Given the description of an element on the screen output the (x, y) to click on. 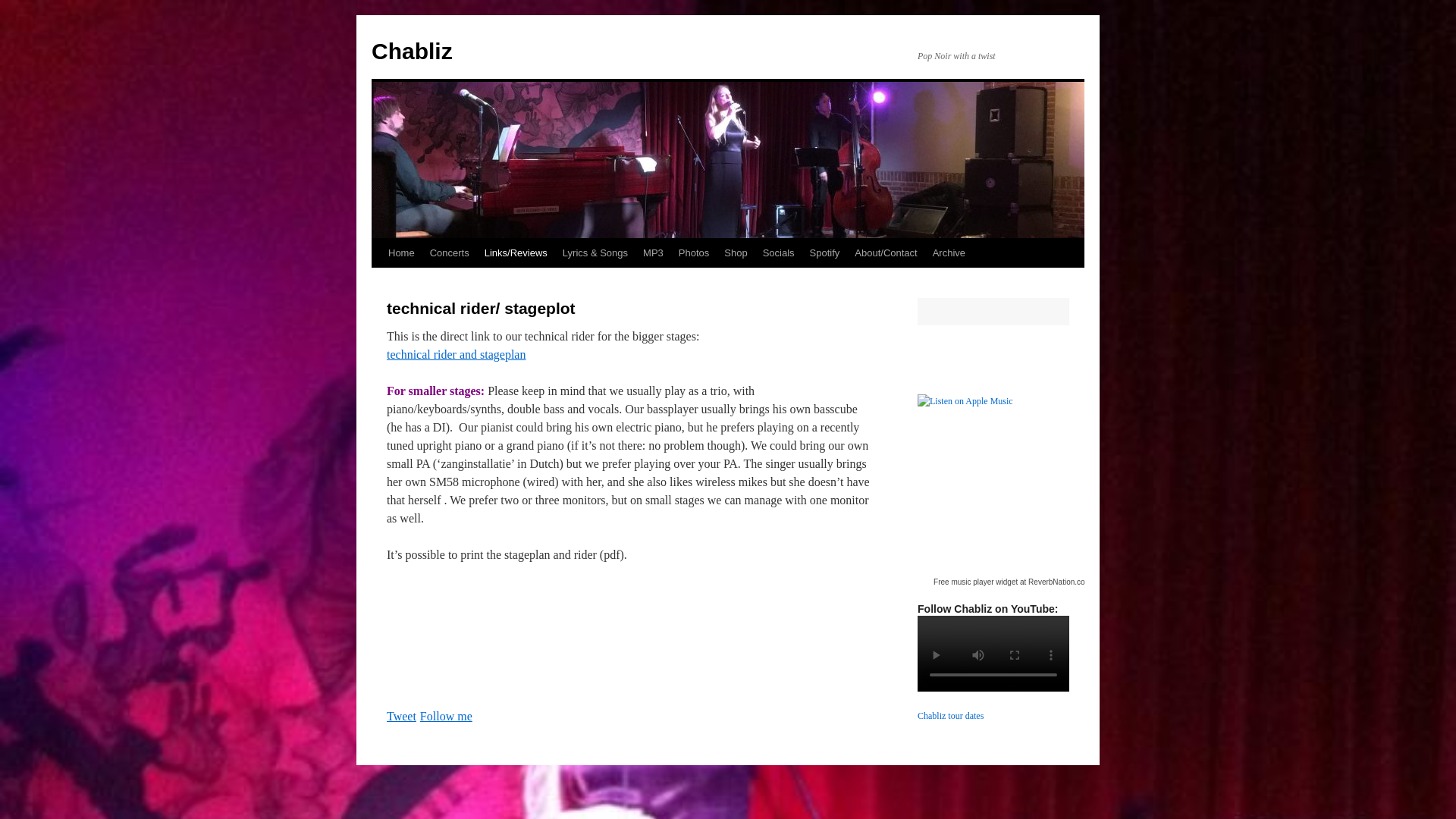
Chabliz (411, 50)
Photos (693, 253)
Concerts (449, 253)
Chabliz (411, 50)
MP3 (652, 253)
Home (401, 253)
